Given the description of an element on the screen output the (x, y) to click on. 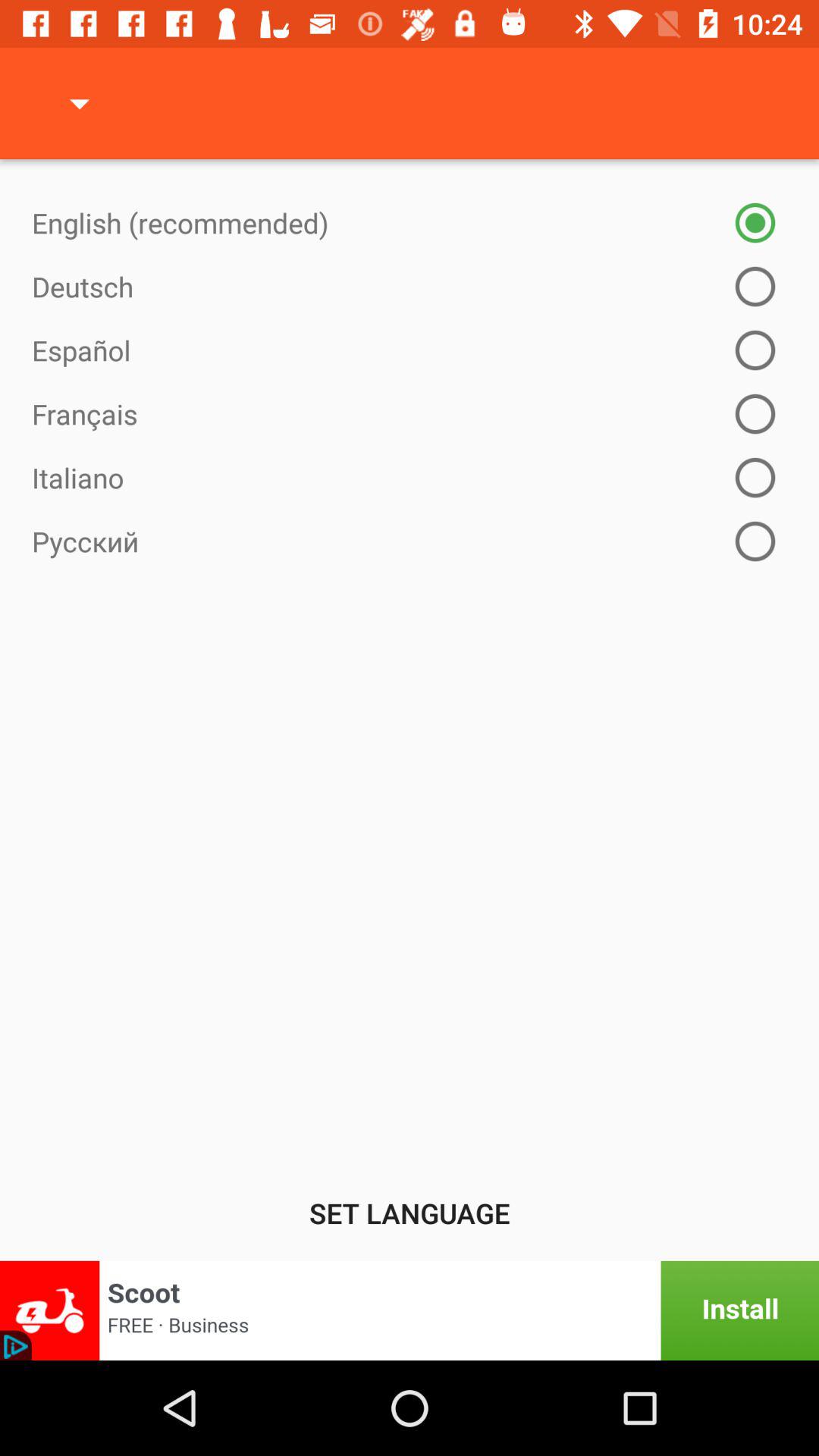
select set language item (409, 1212)
